Given the description of an element on the screen output the (x, y) to click on. 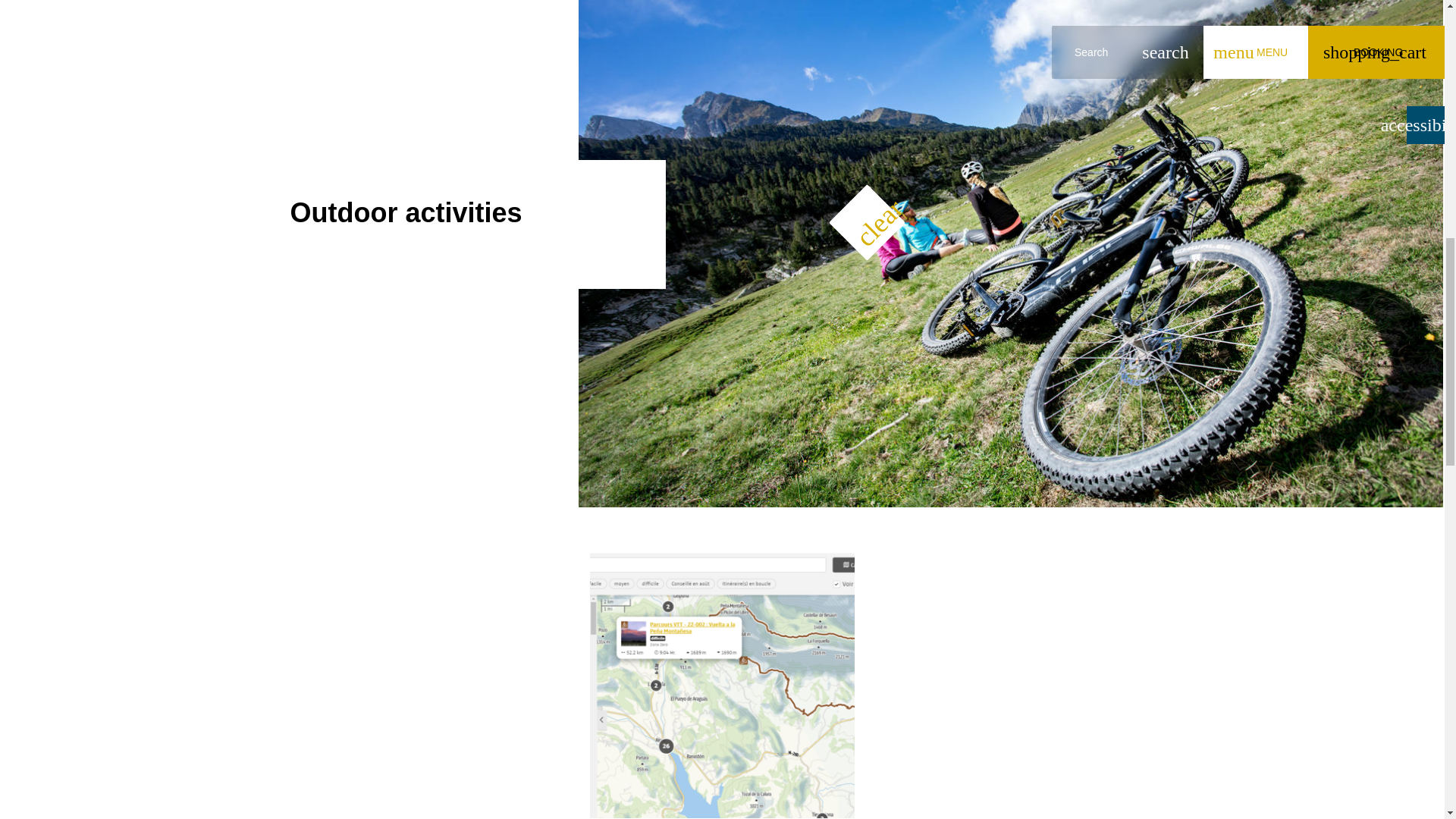
Outdoor activities (405, 212)
Les parcours Sportifs en Sobrarbe (722, 685)
